Given the description of an element on the screen output the (x, y) to click on. 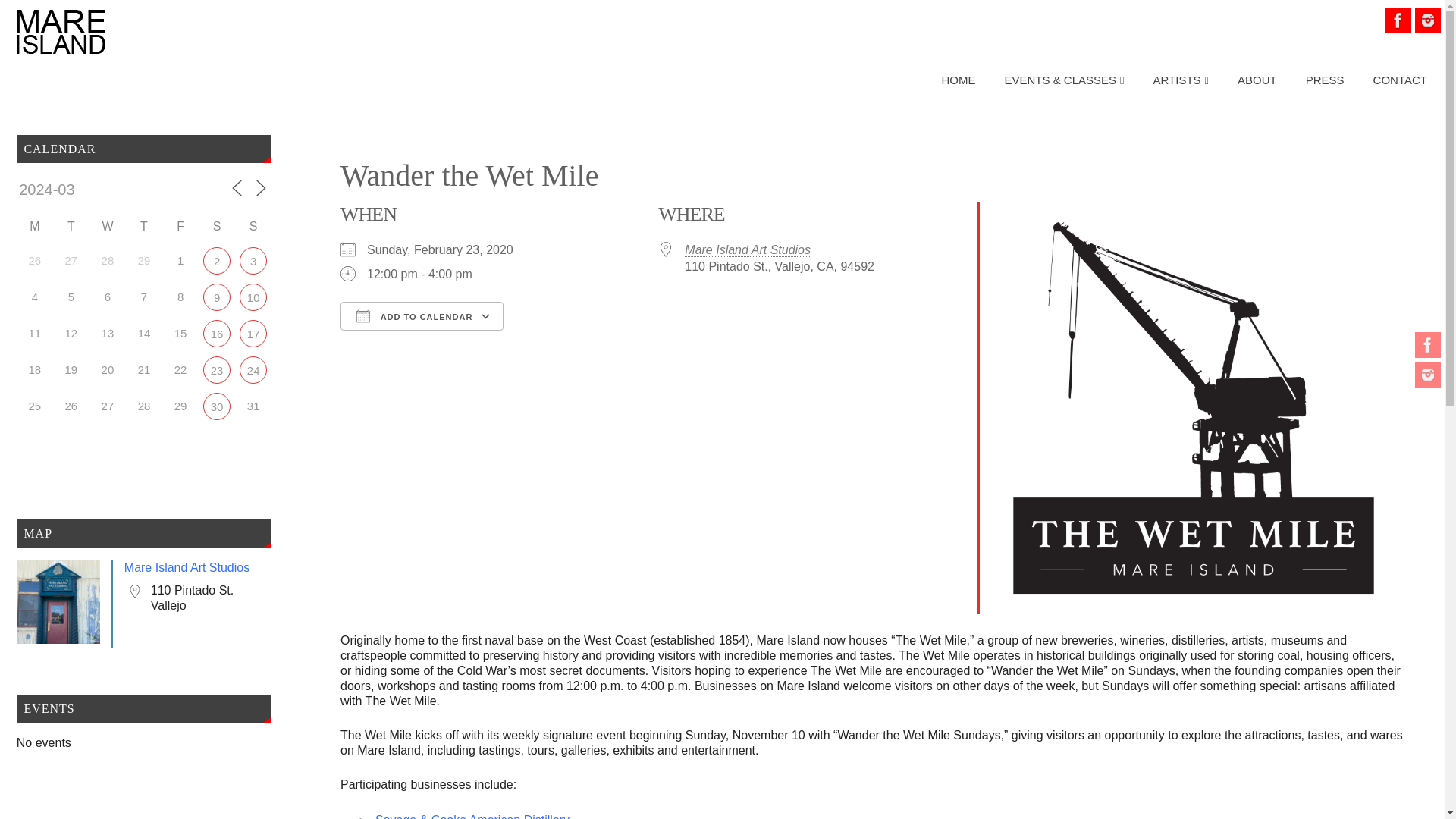
Google Calendar (565, 342)
Winged Beings (216, 297)
Instagram (1428, 20)
ABOUT (1256, 79)
Winged Beings (252, 260)
Winged Beings (216, 260)
ARTISTS (1181, 79)
Winged Beings (216, 333)
Facebook (1428, 344)
Winged Beings (216, 405)
